Given the description of an element on the screen output the (x, y) to click on. 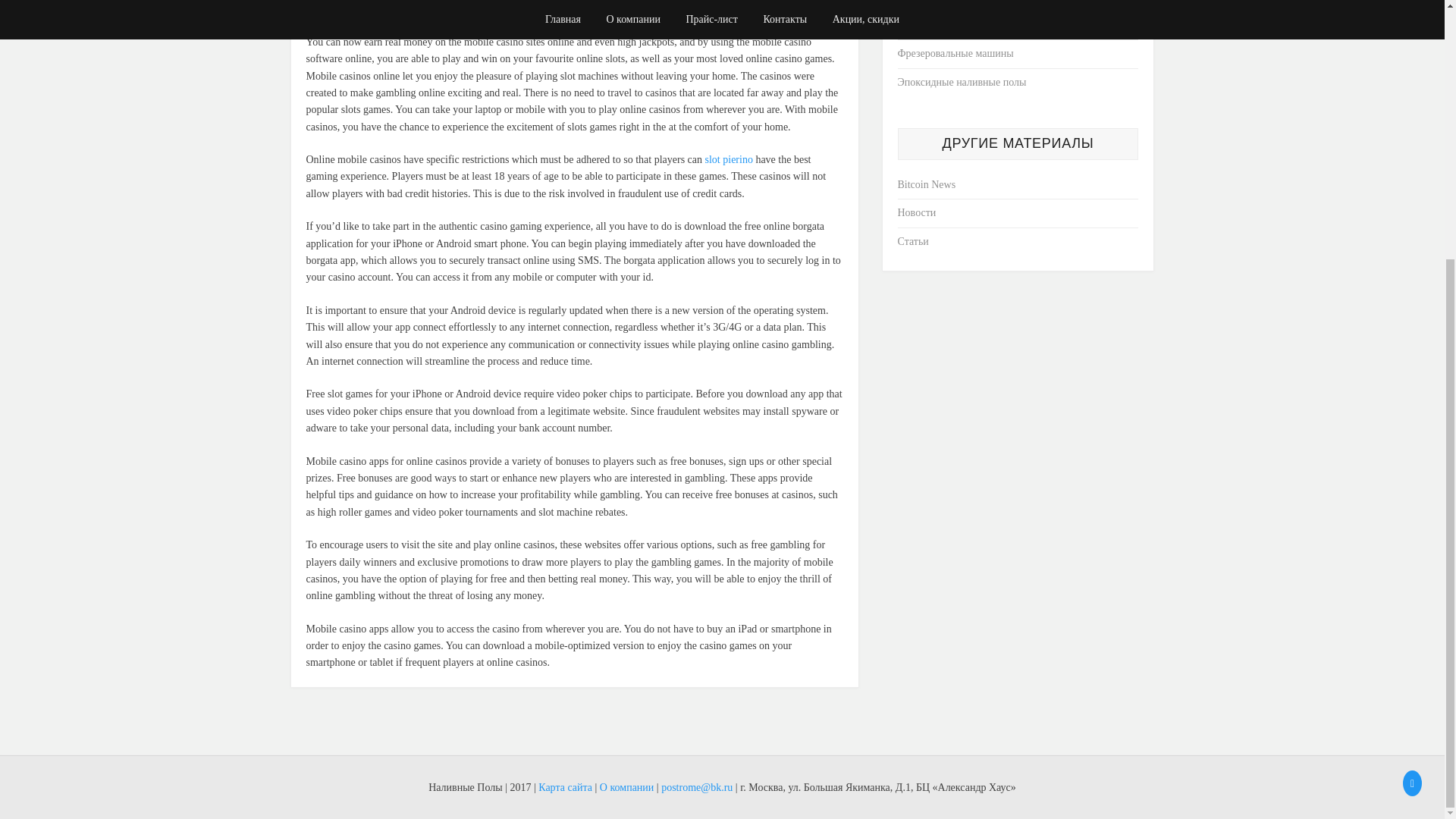
slot pierino (728, 159)
Bitcoin News (927, 184)
